Given the description of an element on the screen output the (x, y) to click on. 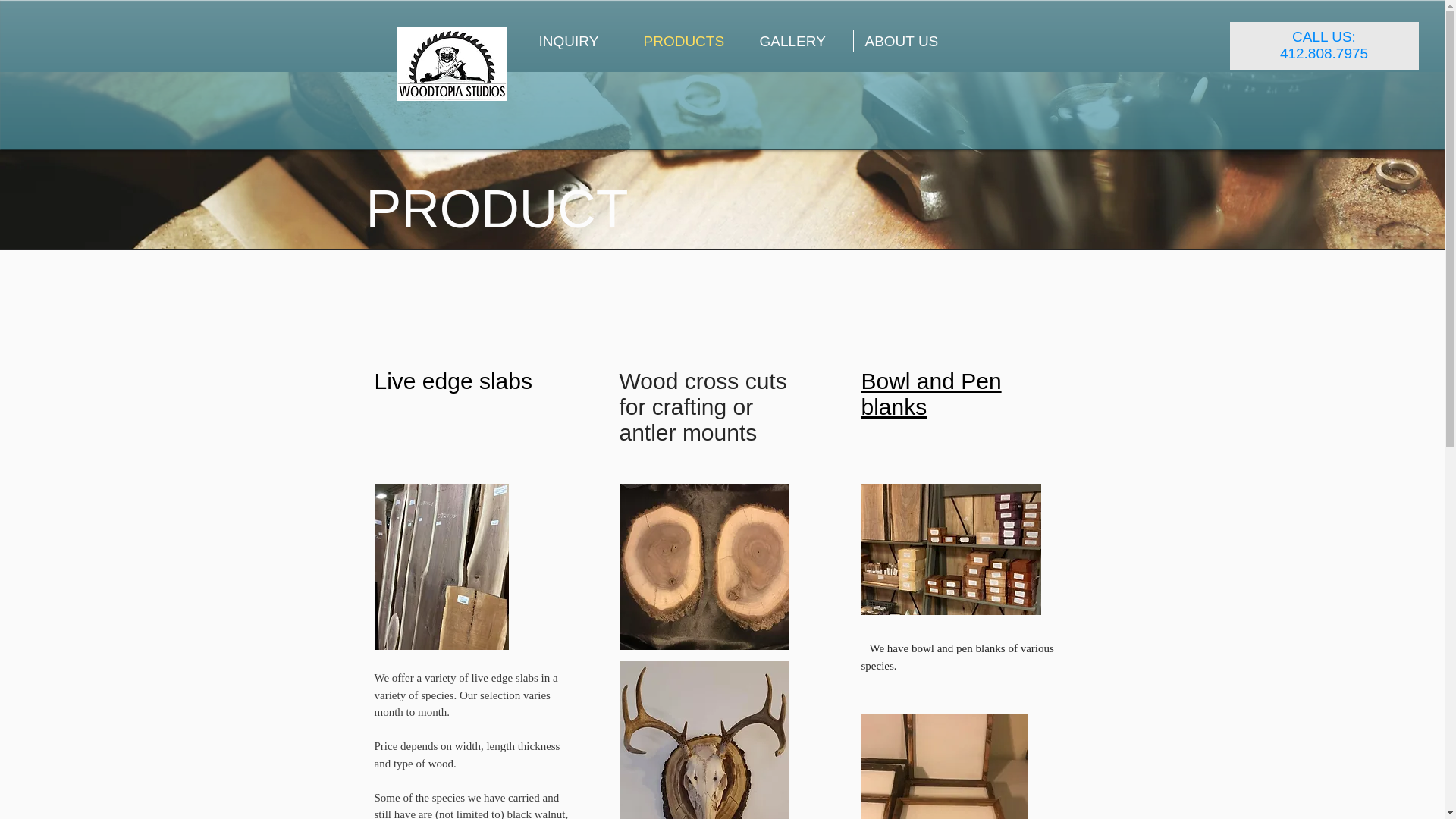
INQUIRY (579, 41)
GALLERY (799, 41)
Bowl and Pen blanks (931, 393)
ABOUT US (909, 41)
PRODUCTS (689, 41)
